Given the description of an element on the screen output the (x, y) to click on. 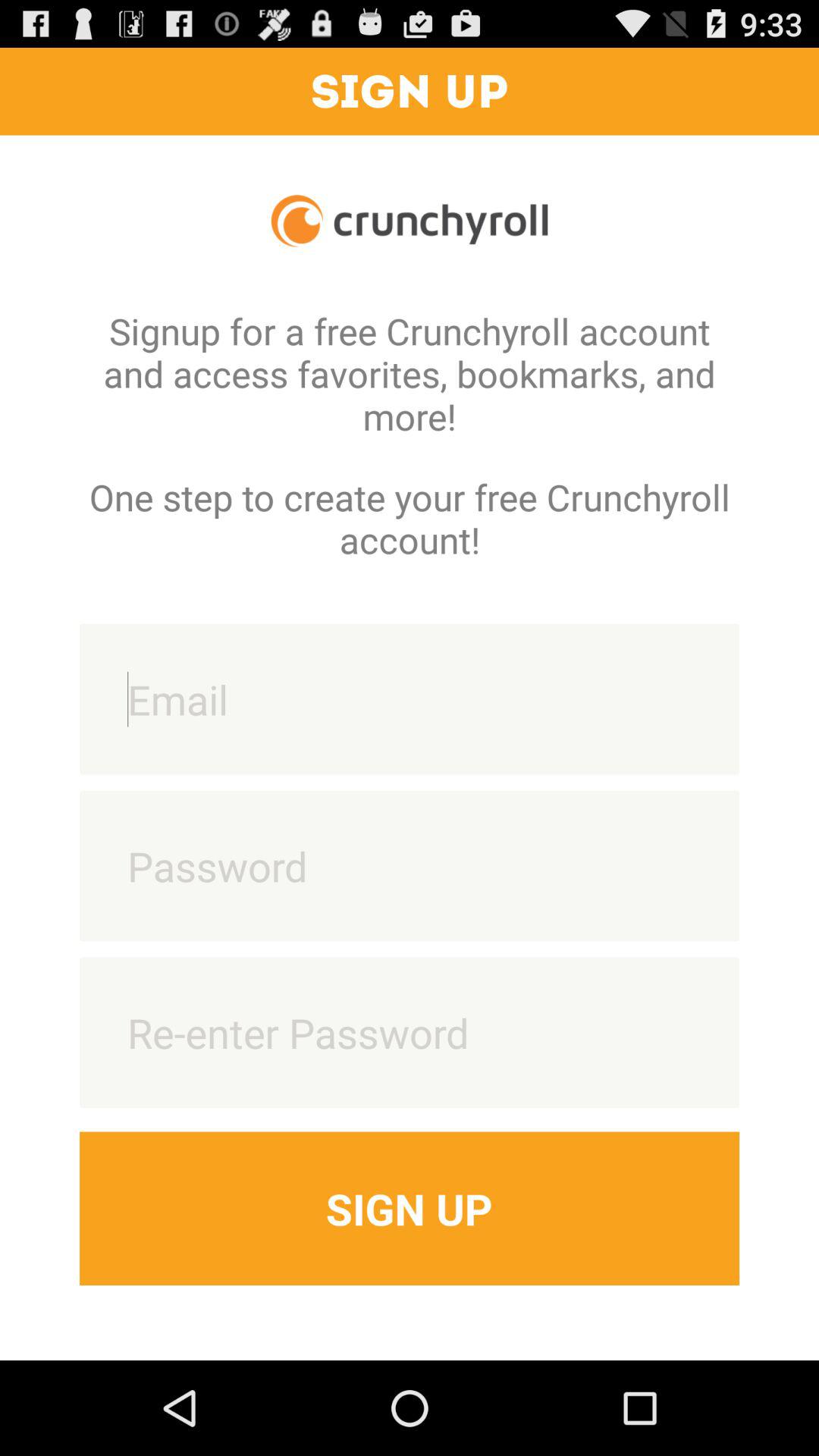
enter password (409, 865)
